Given the description of an element on the screen output the (x, y) to click on. 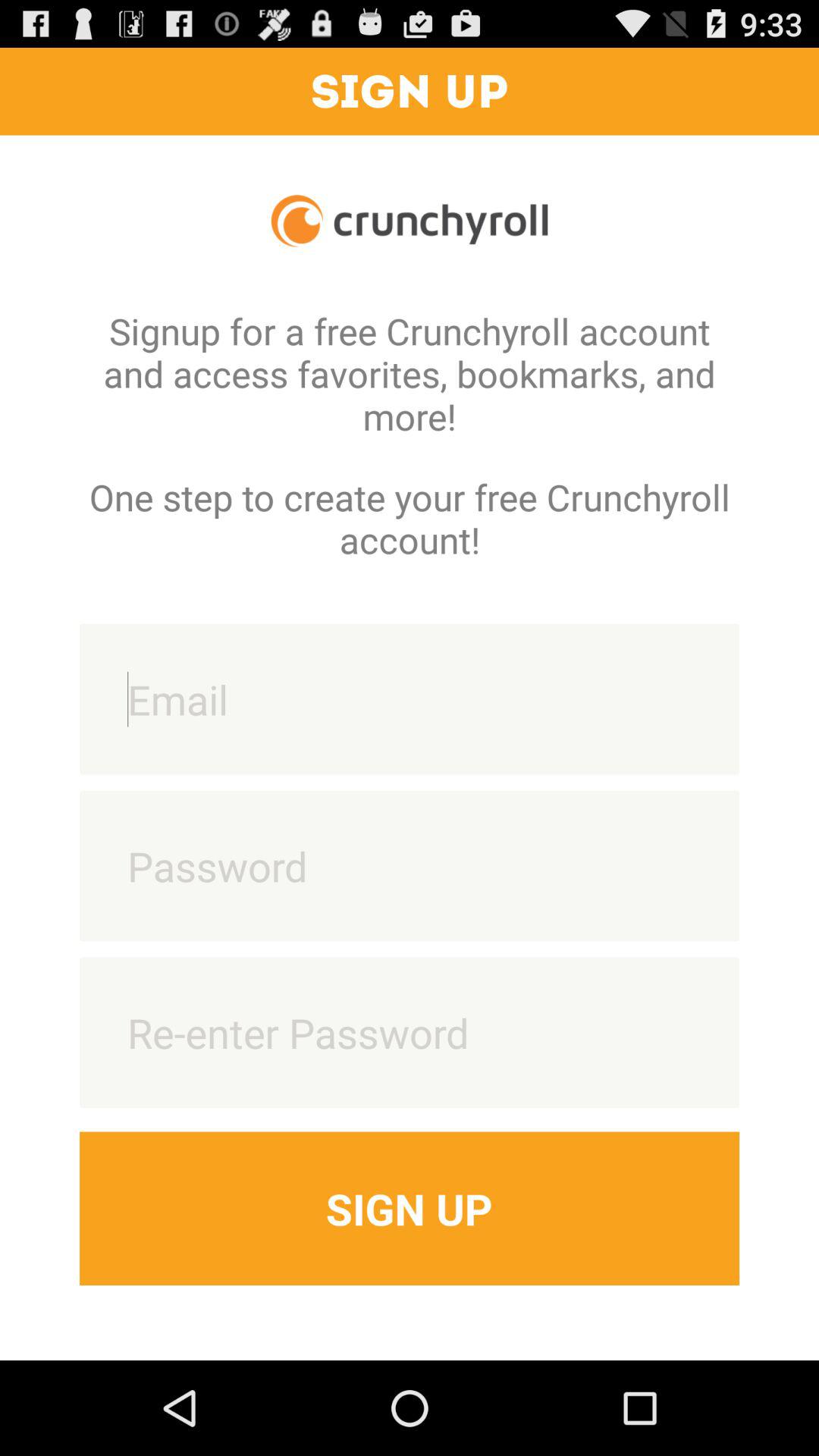
enter password (409, 865)
